Given the description of an element on the screen output the (x, y) to click on. 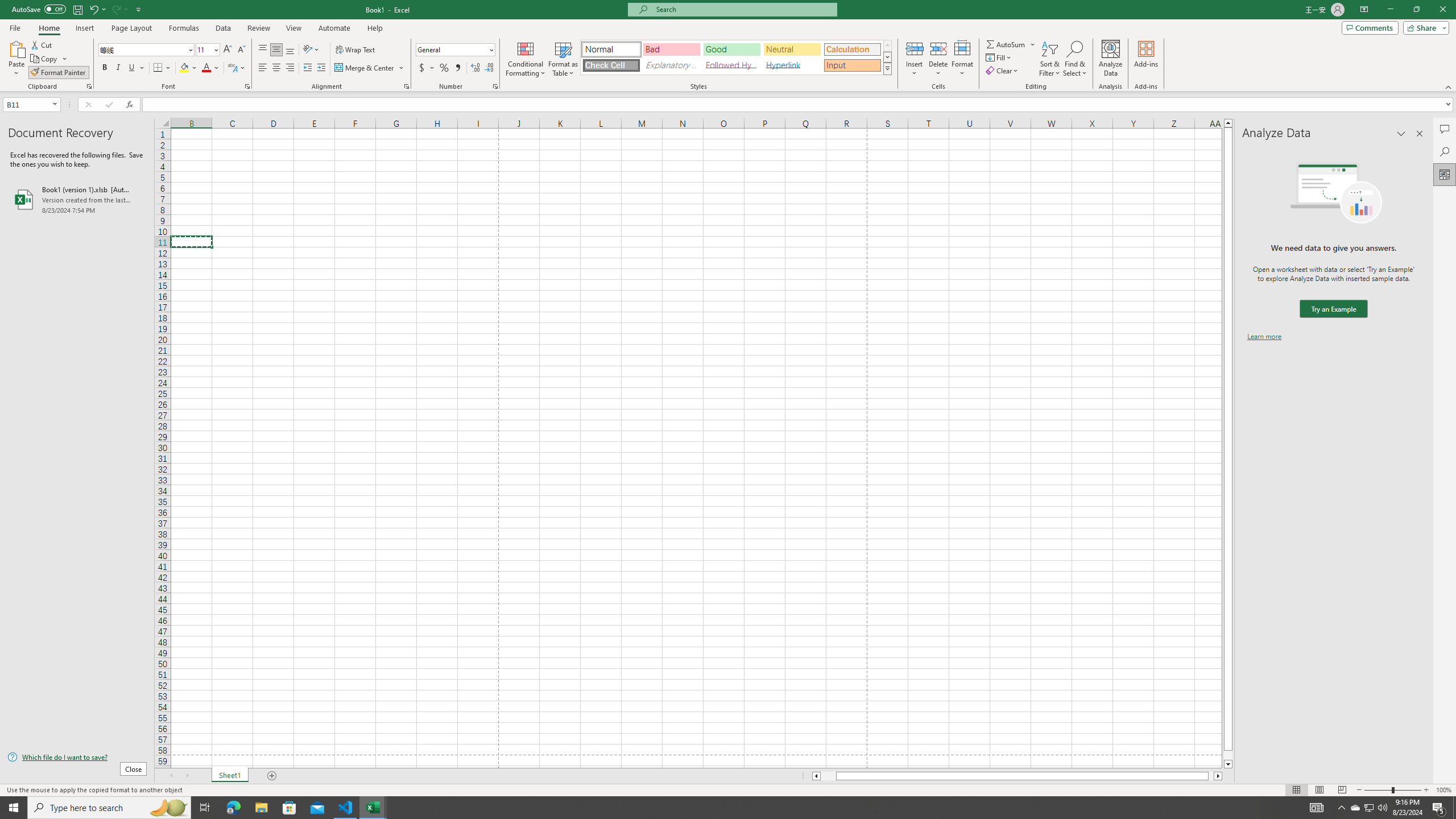
Analyze Data (1110, 58)
Accounting Number Format (426, 67)
Decrease Decimal (489, 67)
Wrap Text (355, 49)
Bold (104, 67)
Cell Styles (887, 68)
AutoSum (1011, 44)
Cut (42, 44)
AutomationID: CellStylesGallery (736, 57)
Center (276, 67)
